Given the description of an element on the screen output the (x, y) to click on. 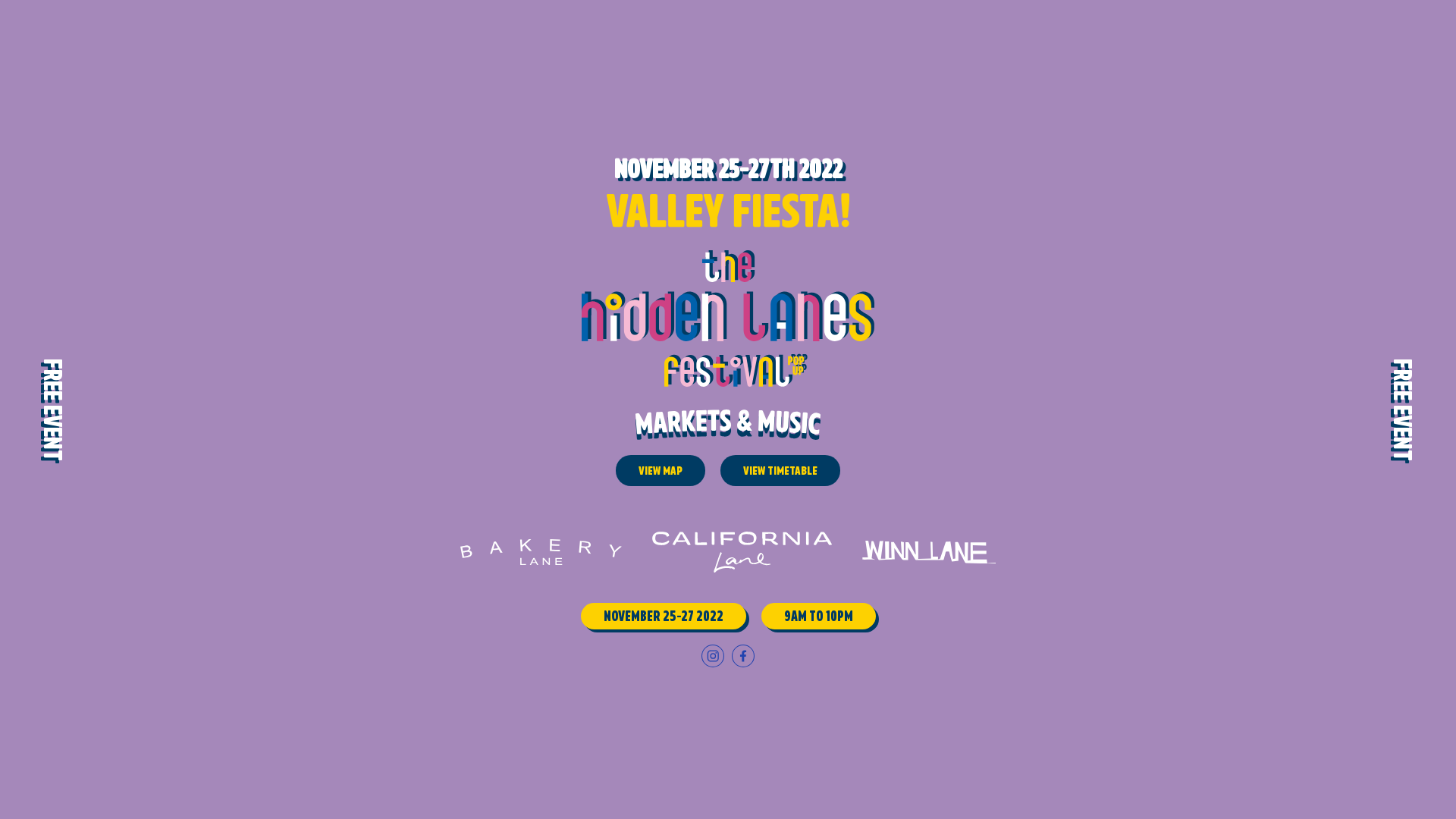
View Timetable Element type: text (780, 470)
View Map Element type: text (660, 470)
